Given the description of an element on the screen output the (x, y) to click on. 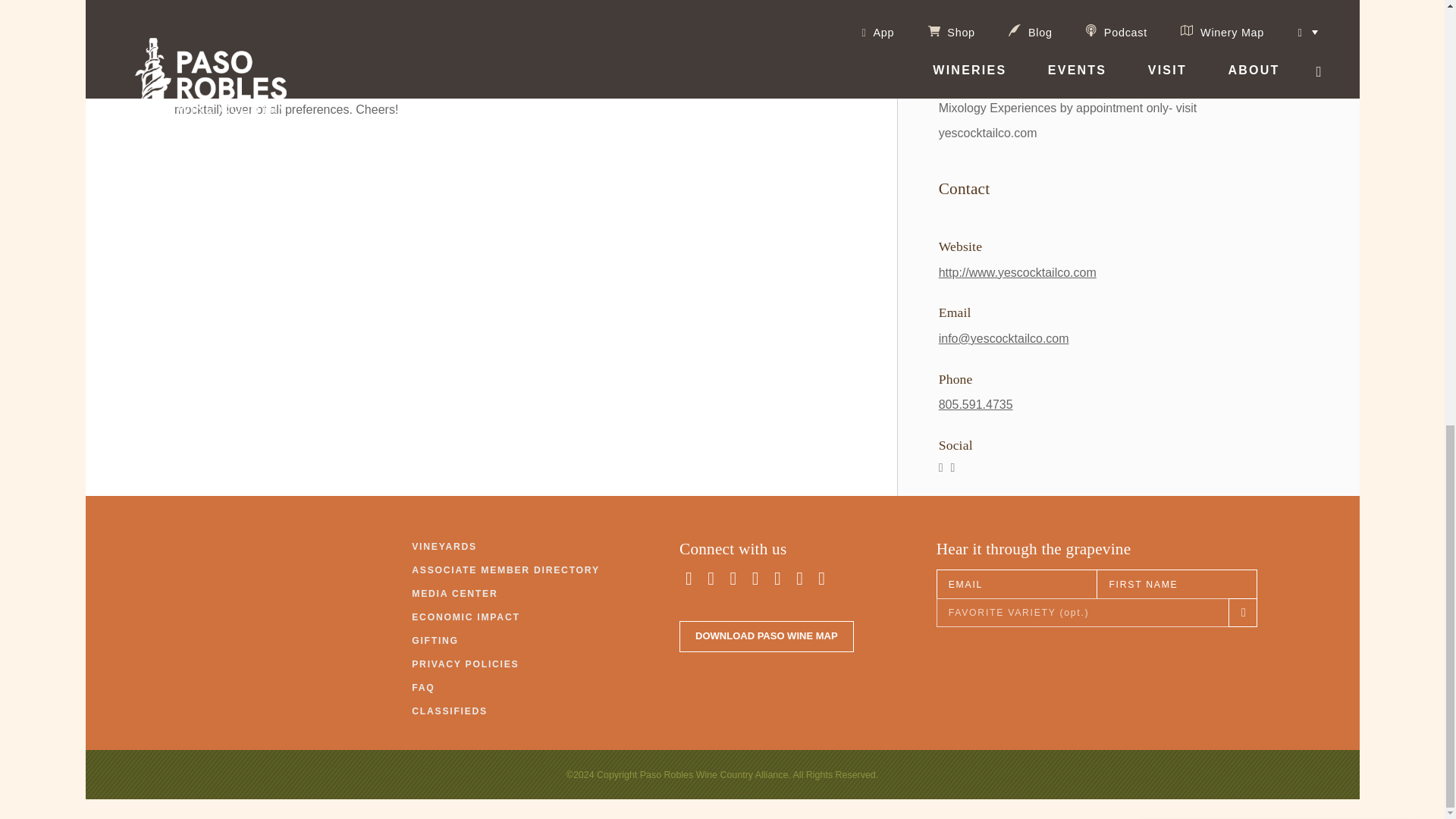
ECONOMIC IMPACT (465, 617)
DOWNLOAD PASO WINE MAP (766, 635)
GIFTING (435, 641)
VINEYARDS (444, 547)
805.591.4735 (976, 404)
FAQ (422, 687)
PRIVACY POLICIES (465, 664)
Submit (1189, 149)
ASSOCIATE MEMBER DIRECTORY (505, 570)
MEDIA CENTER (454, 593)
CLASSIFIEDS (449, 711)
